Given the description of an element on the screen output the (x, y) to click on. 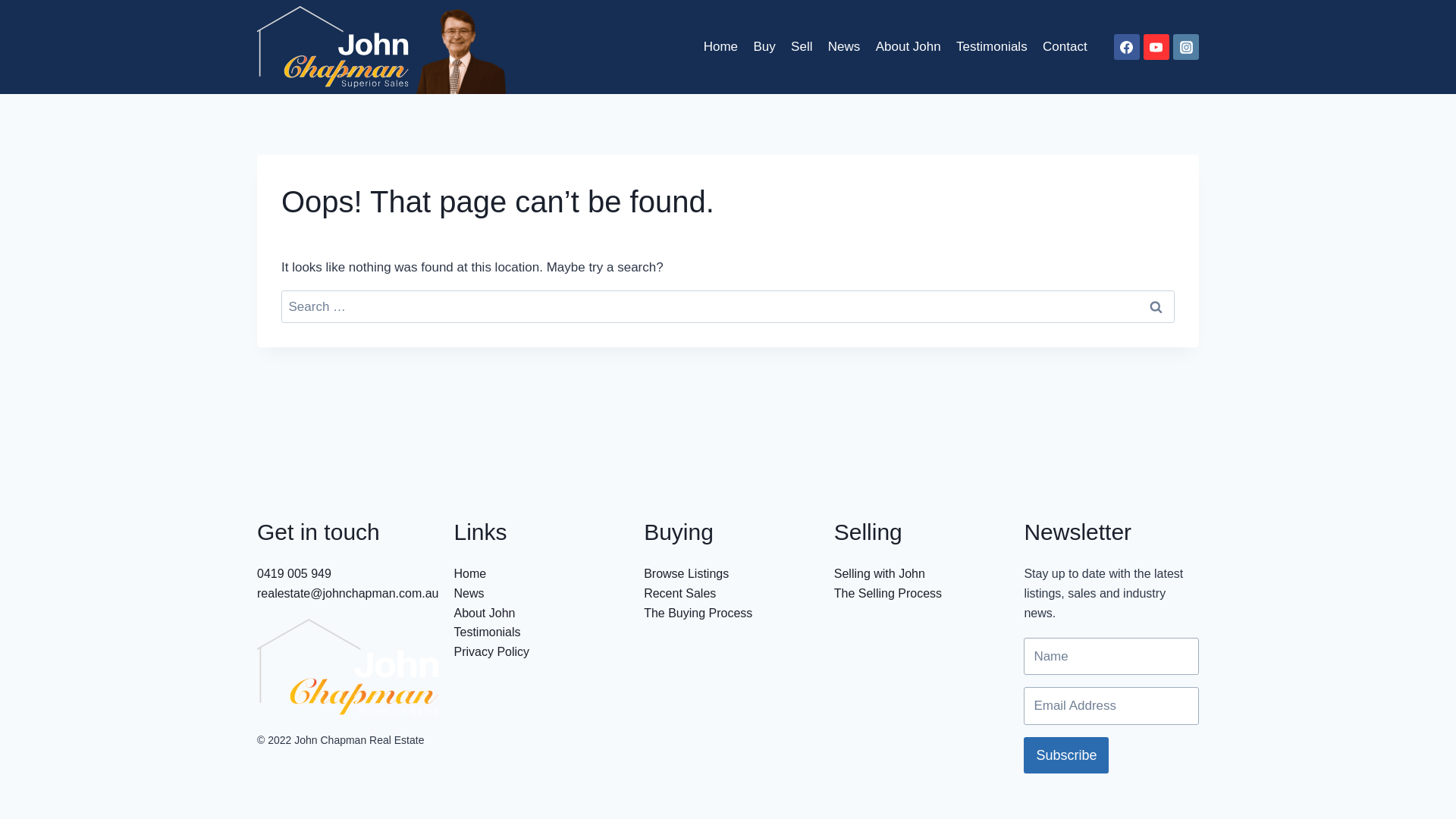
Testimonials Element type: text (486, 631)
The Selling Process Element type: text (887, 592)
Subscribe Element type: text (1065, 755)
Privacy Policy Element type: text (491, 651)
0419 005 949 Element type: text (294, 573)
Sell Element type: text (801, 46)
Search Element type: text (1155, 306)
Recent Sales Element type: text (679, 592)
realestate@johnchapman.com.au Element type: text (348, 592)
News Element type: text (468, 592)
Selling with John Element type: text (879, 573)
Home Element type: text (721, 46)
About John Element type: text (483, 612)
Home Element type: text (469, 573)
The Buying Process Element type: text (697, 612)
Buy Element type: text (764, 46)
Testimonials Element type: text (991, 46)
About John Element type: text (908, 46)
Browse Listings Element type: text (685, 573)
News Element type: text (844, 46)
Contact Element type: text (1065, 46)
